Given the description of an element on the screen output the (x, y) to click on. 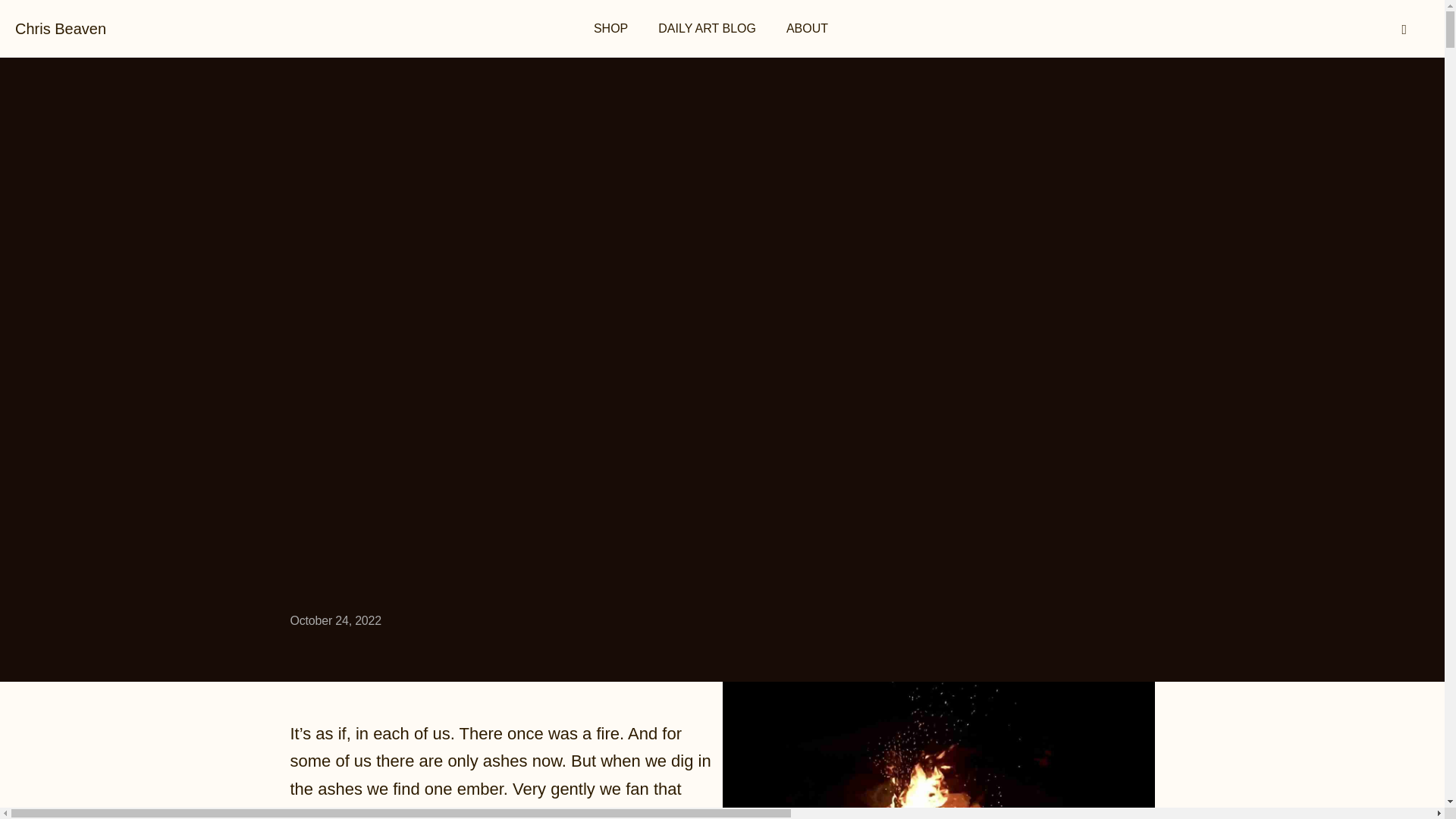
DAILY ART BLOG (706, 28)
ABOUT (807, 28)
Chris Beaven (60, 28)
SHOP (610, 28)
